Given the description of an element on the screen output the (x, y) to click on. 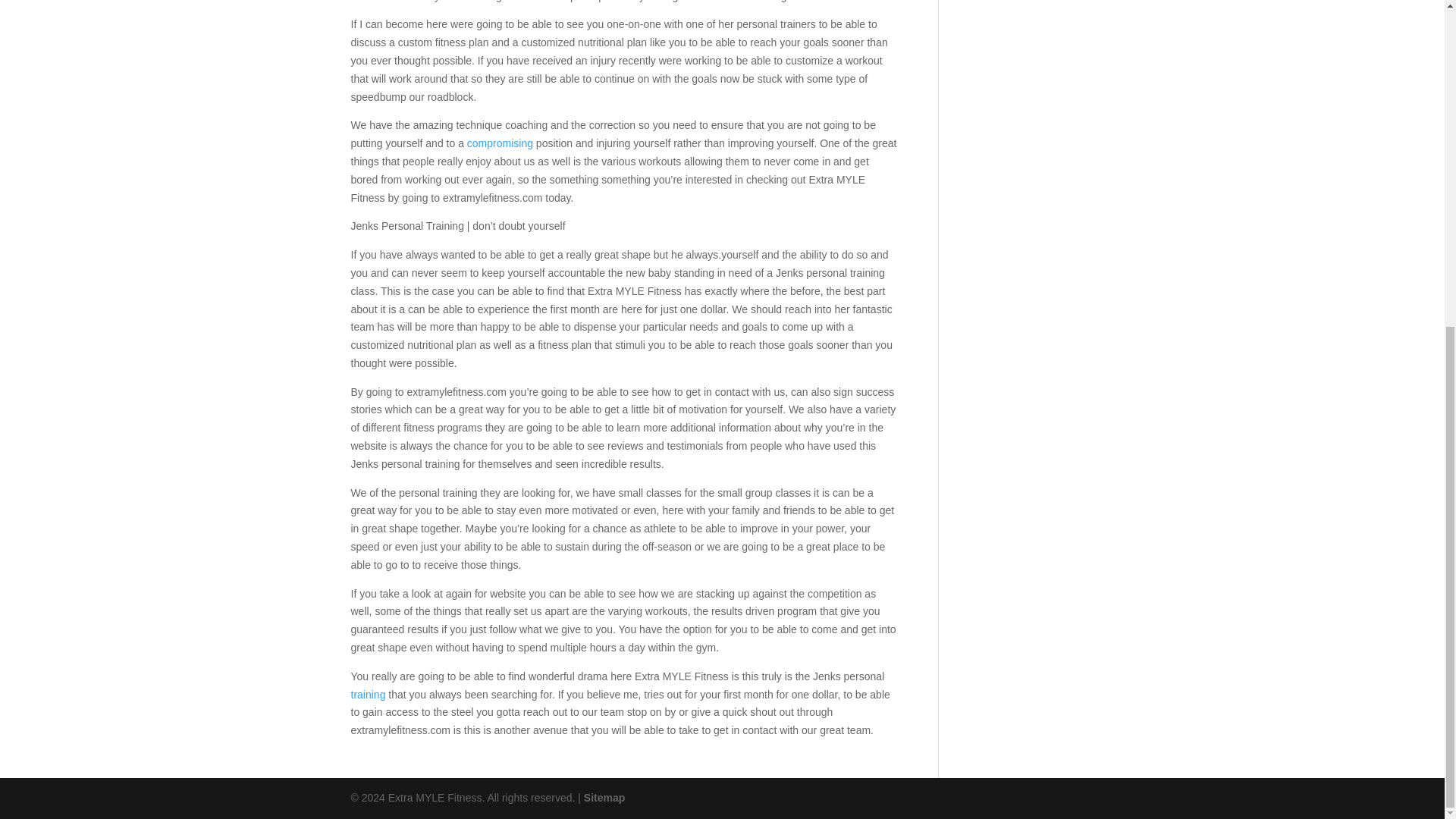
training (367, 694)
Sitemap (603, 797)
compromising (499, 143)
